Given the description of an element on the screen output the (x, y) to click on. 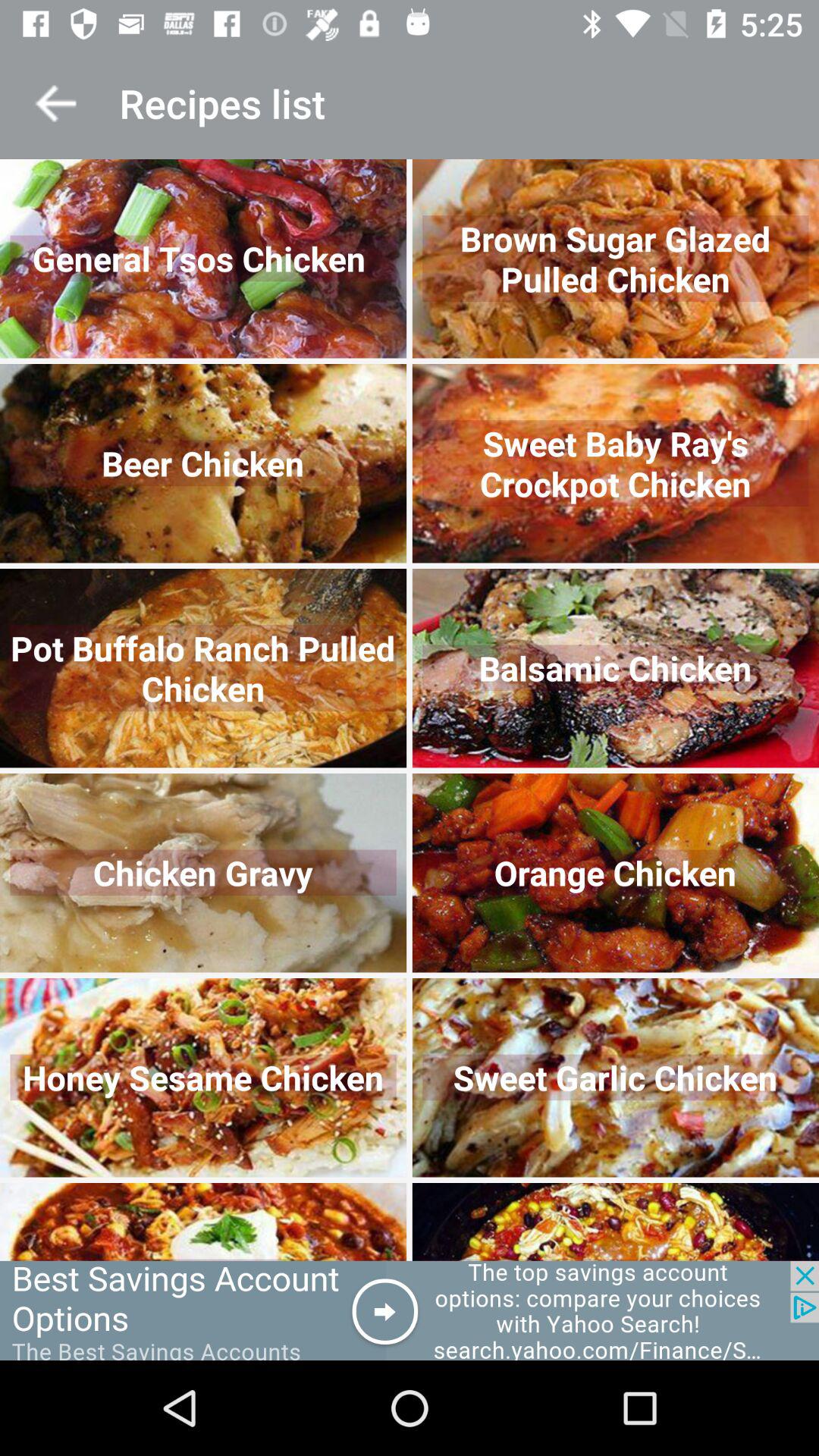
back to previous menu (55, 103)
